Given the description of an element on the screen output the (x, y) to click on. 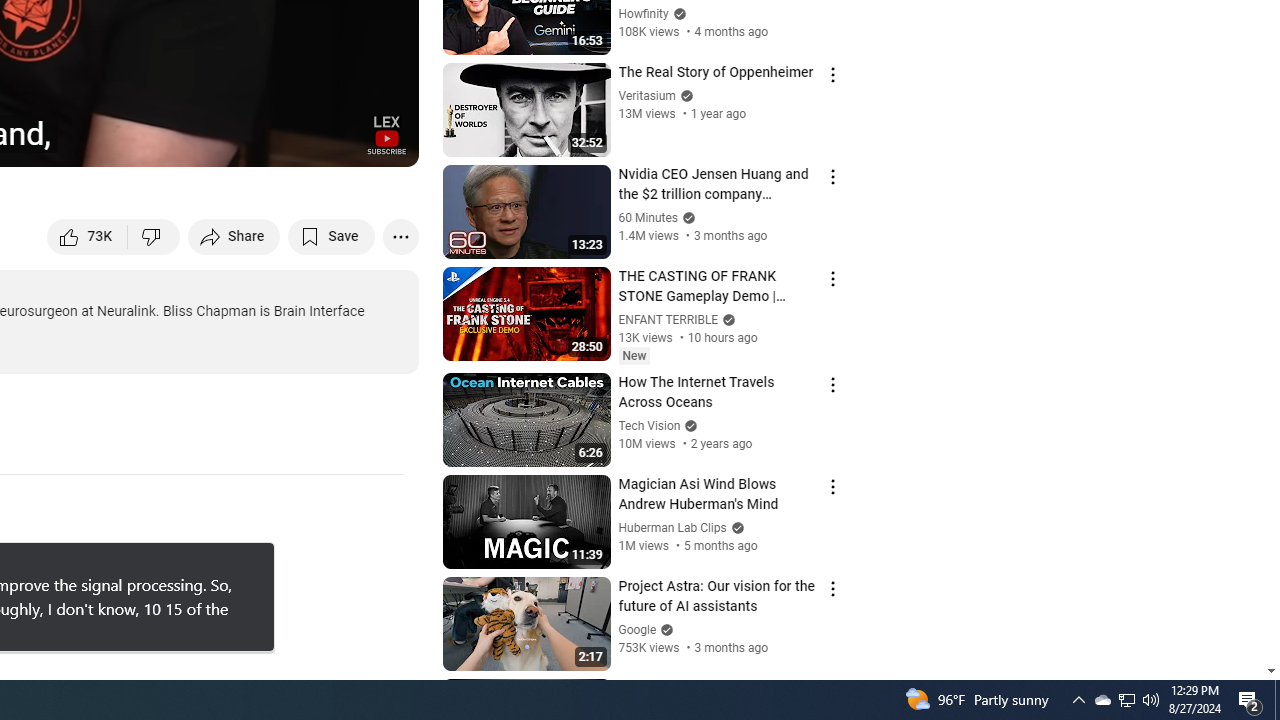
Dislike this video (154, 236)
Theater mode (t) (333, 142)
Verified (664, 629)
Share (234, 236)
Full screen (f) (382, 142)
like this video along with 73,133 other people (88, 236)
Autoplay is on (141, 142)
Subtitles/closed captions unavailable (190, 142)
Miniplayer (i) (286, 142)
New (634, 356)
More actions (399, 236)
Channel watermark (386, 134)
